Given the description of an element on the screen output the (x, y) to click on. 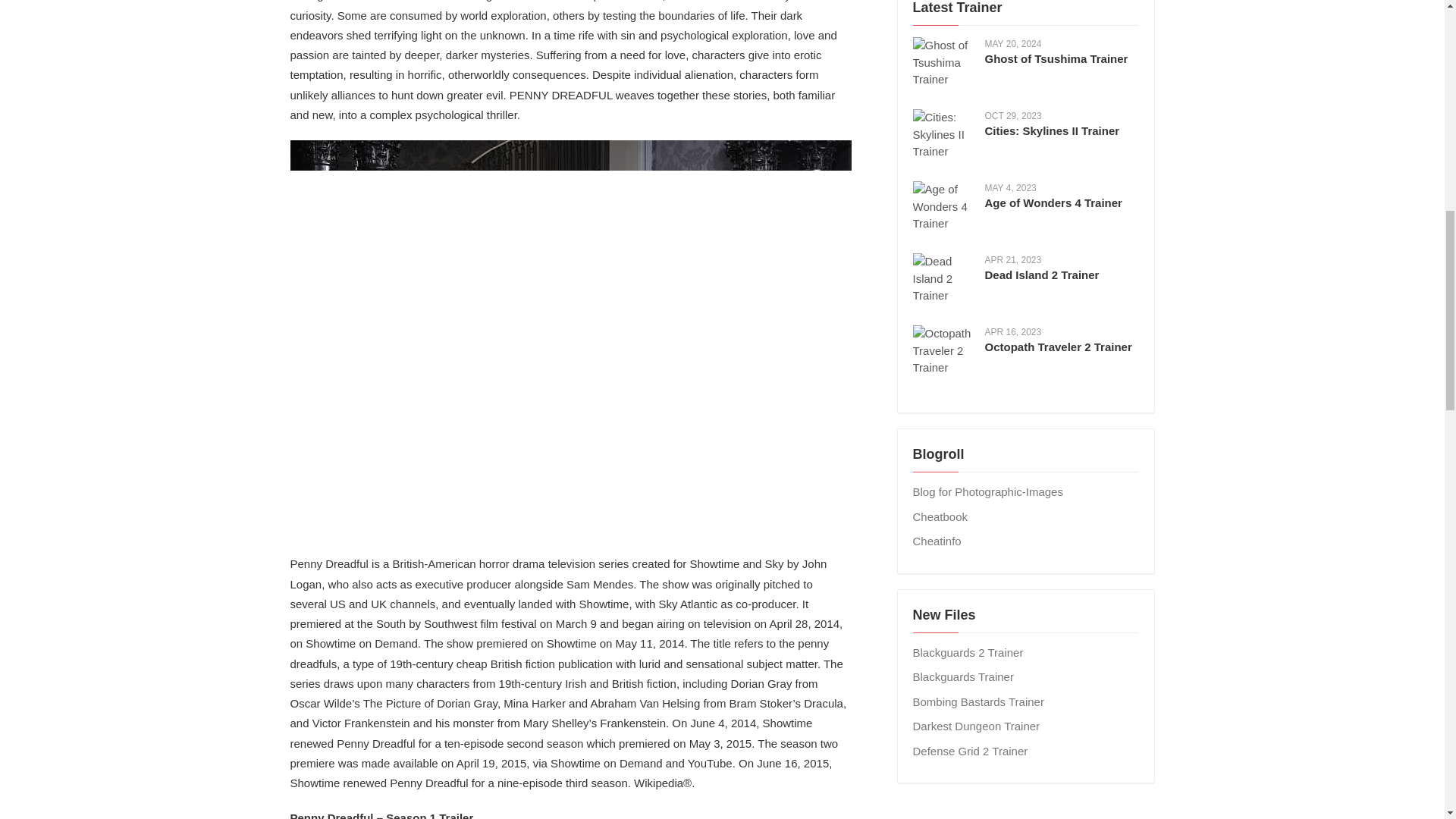
The encyclopedia of game cheats. (940, 516)
Blackguards 2 Trainer (967, 652)
Blackguards Trainer (962, 676)
Darkest Dungeon Trainer (976, 725)
GALLERY FOR PHOTOGRAPHIC-IMAGES (987, 491)
Defense Grid 2 Trainer (969, 750)
Bombing Bastards Trainer (977, 701)
